Given the description of an element on the screen output the (x, y) to click on. 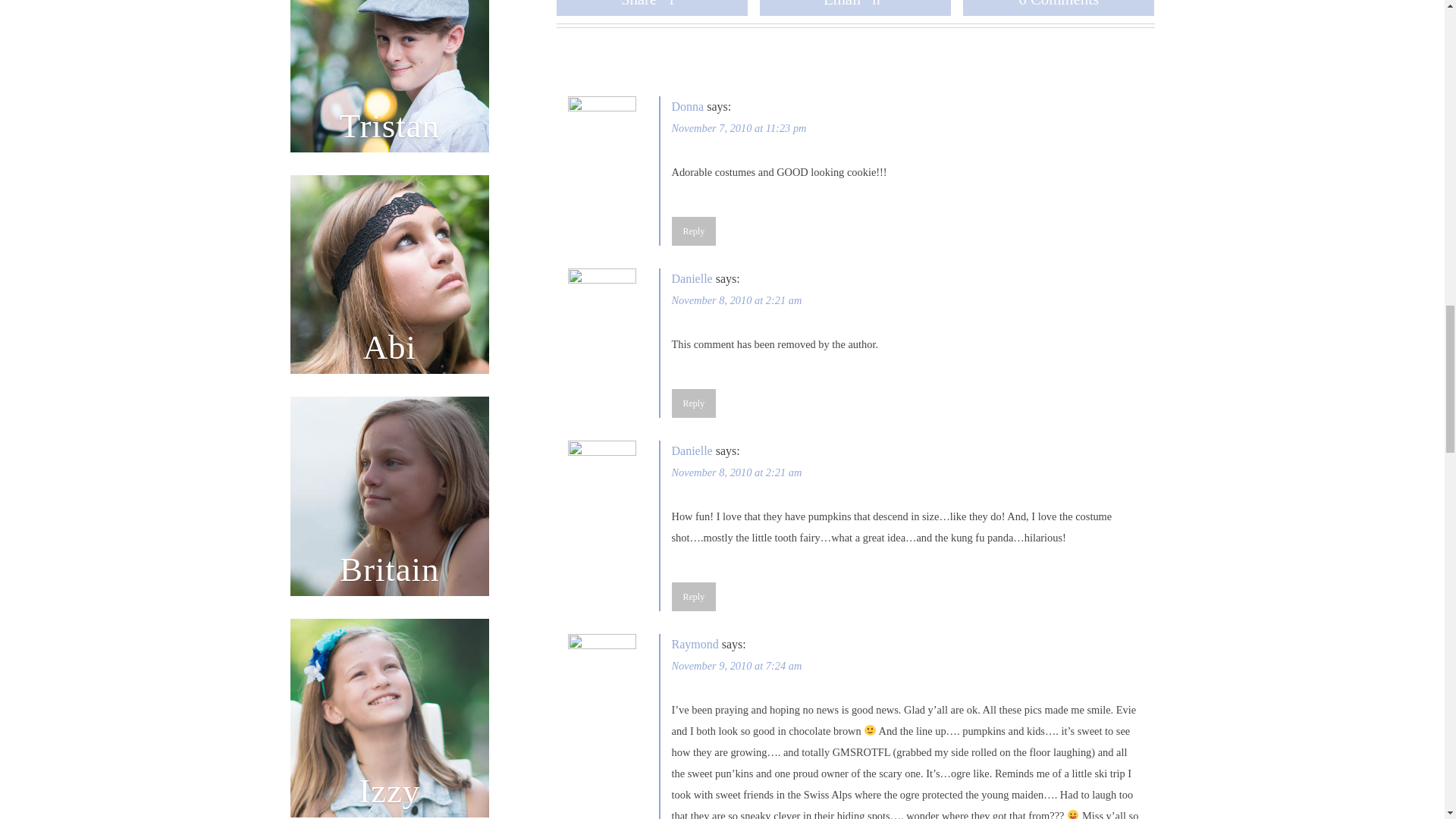
Donna (687, 106)
Reply (693, 596)
November 9, 2010 at 7:24 am (736, 665)
Danielle (692, 450)
November 8, 2010 at 2:21 am (736, 300)
Izzy (389, 718)
November 7, 2010 at 11:23 pm (738, 128)
Raymond (695, 644)
6 Comments (1058, 7)
November 8, 2010 at 2:21 am (736, 472)
Britain (389, 496)
Email (855, 7)
Share (652, 7)
Danielle (692, 278)
Tristan (389, 76)
